Given the description of an element on the screen output the (x, y) to click on. 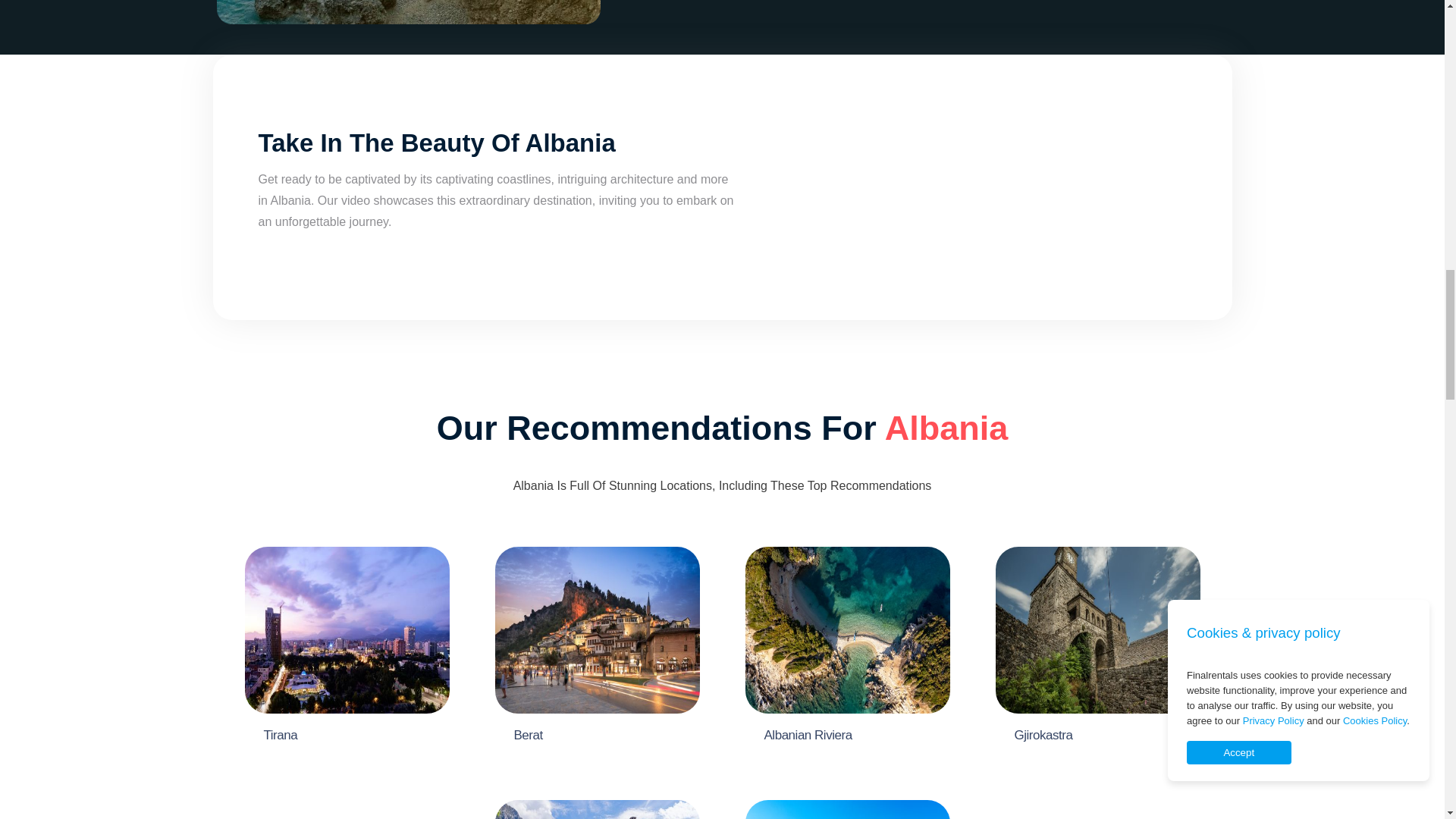
Rent A Car In Albania (996, 187)
